Given the description of an element on the screen output the (x, y) to click on. 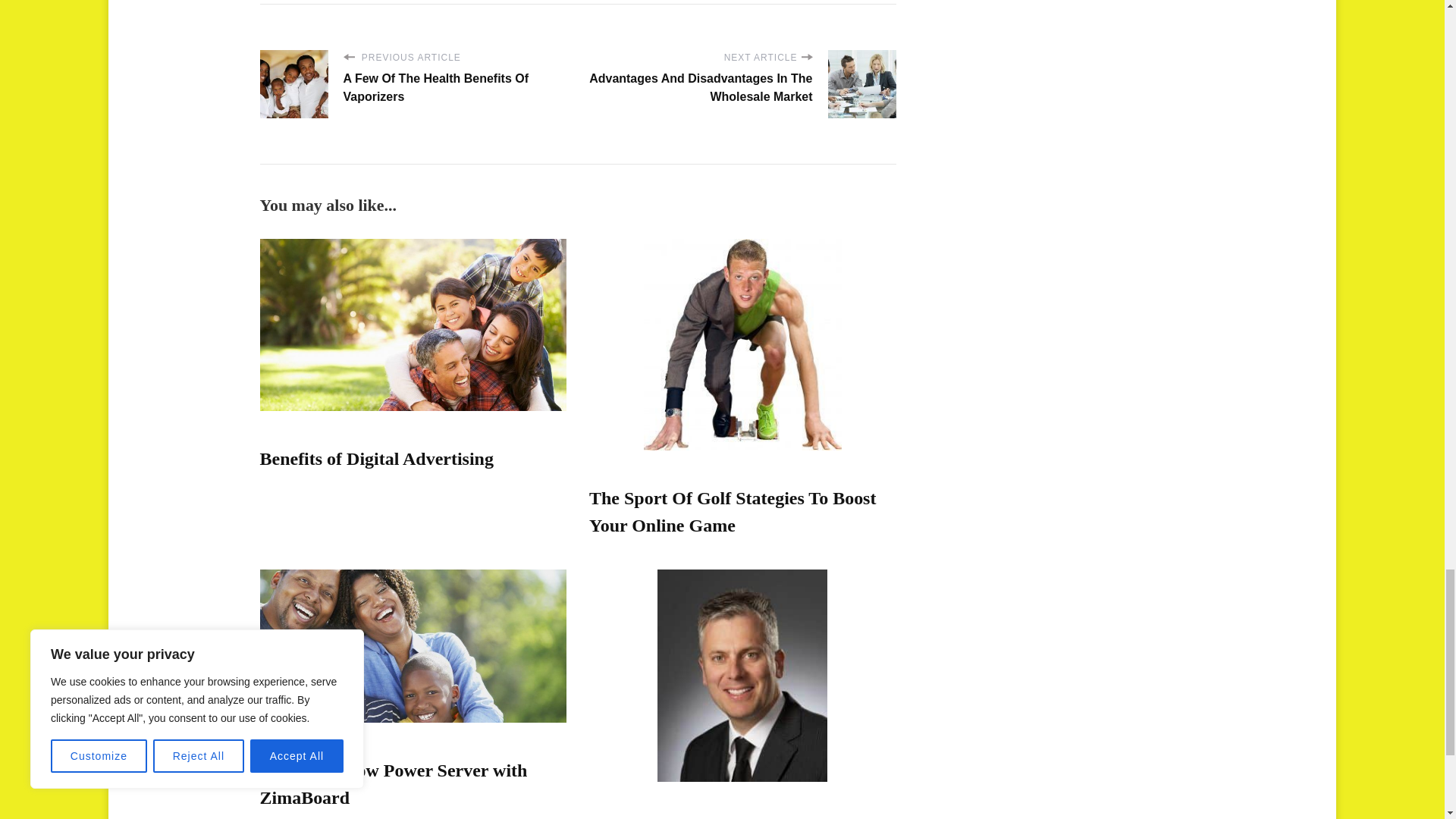
Benefits of Digital Advertising (376, 458)
